Given the description of an element on the screen output the (x, y) to click on. 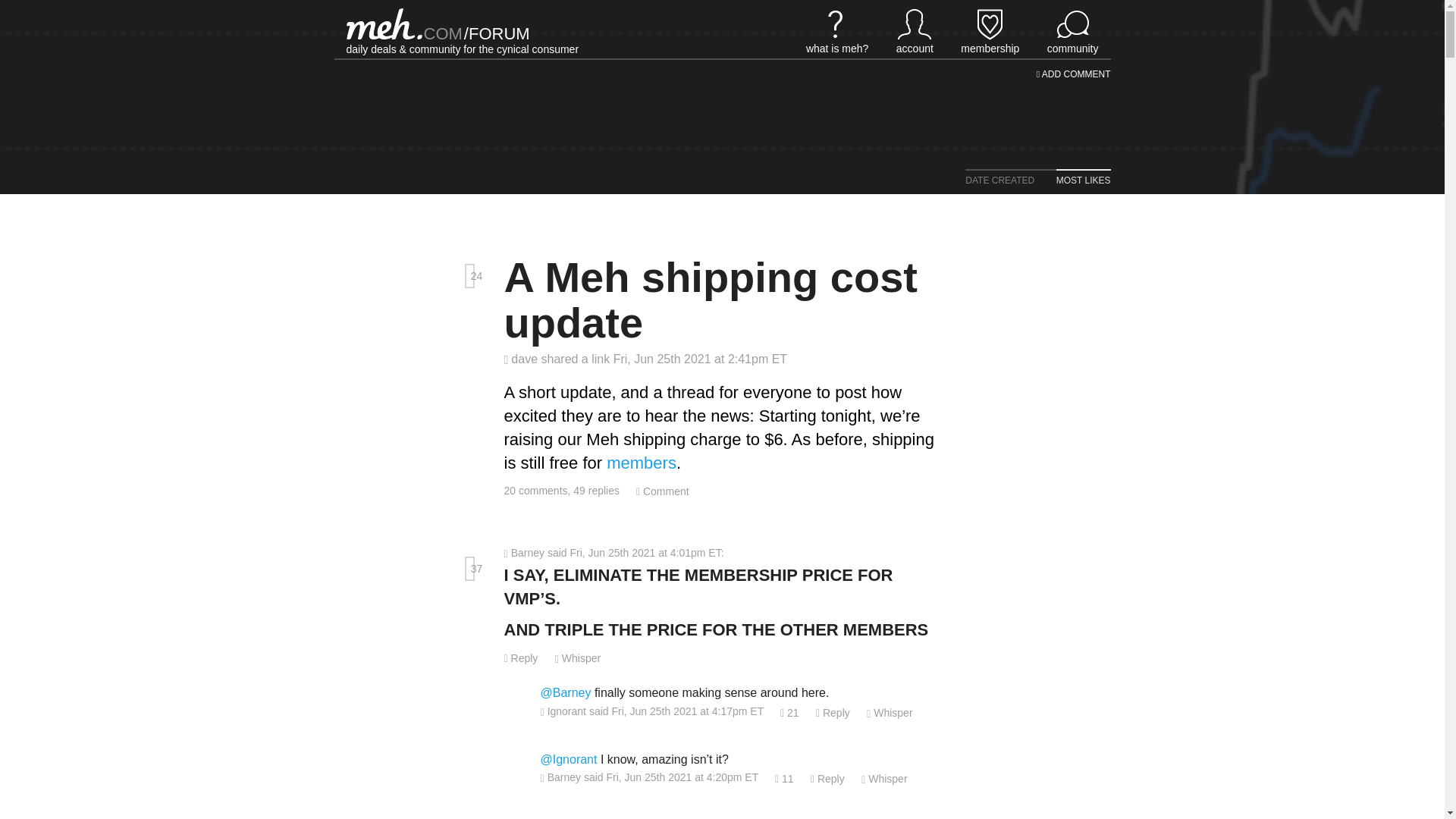
Add Comment (662, 491)
dave (521, 358)
DATE CREATED (1000, 180)
said Fri, Jun 25th 2021 at 4:17pm ET (675, 711)
MOST LIKES (1074, 180)
Barney (523, 552)
community (1072, 30)
Ignorant (563, 711)
Comment (662, 491)
Fri, Jun 25th 2021 at 4:20pm ET (681, 776)
Reply (520, 657)
Reply (832, 712)
Fri, Jun 25th 2021 at 2:41pm ET (699, 358)
Whisper (889, 712)
